Given the description of an element on the screen output the (x, y) to click on. 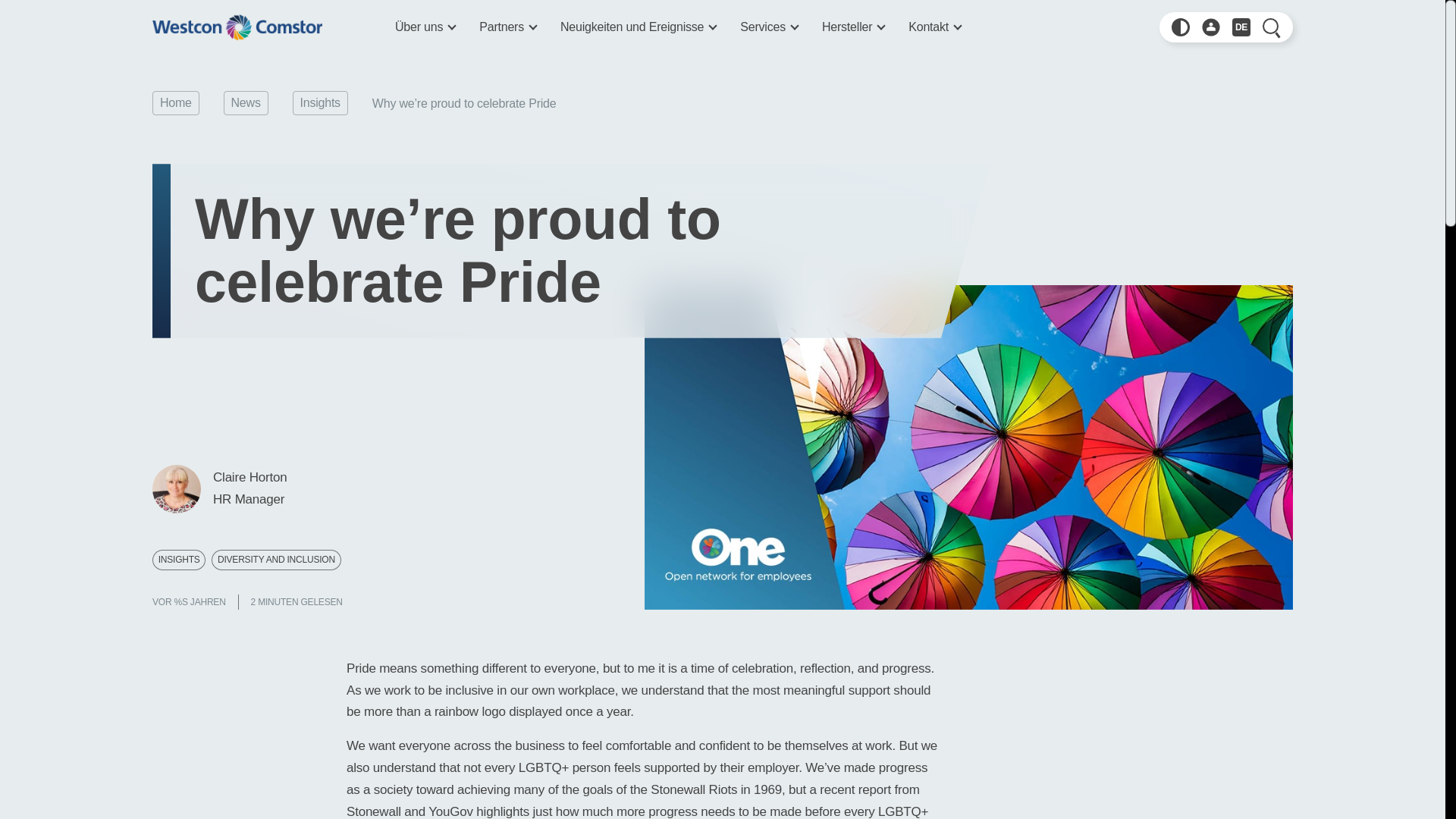
Skip to main content (193, 1)
Neuigkeiten und Ereignisse (638, 27)
Partners (507, 27)
Services (768, 27)
Hersteller (852, 27)
